Given the description of an element on the screen output the (x, y) to click on. 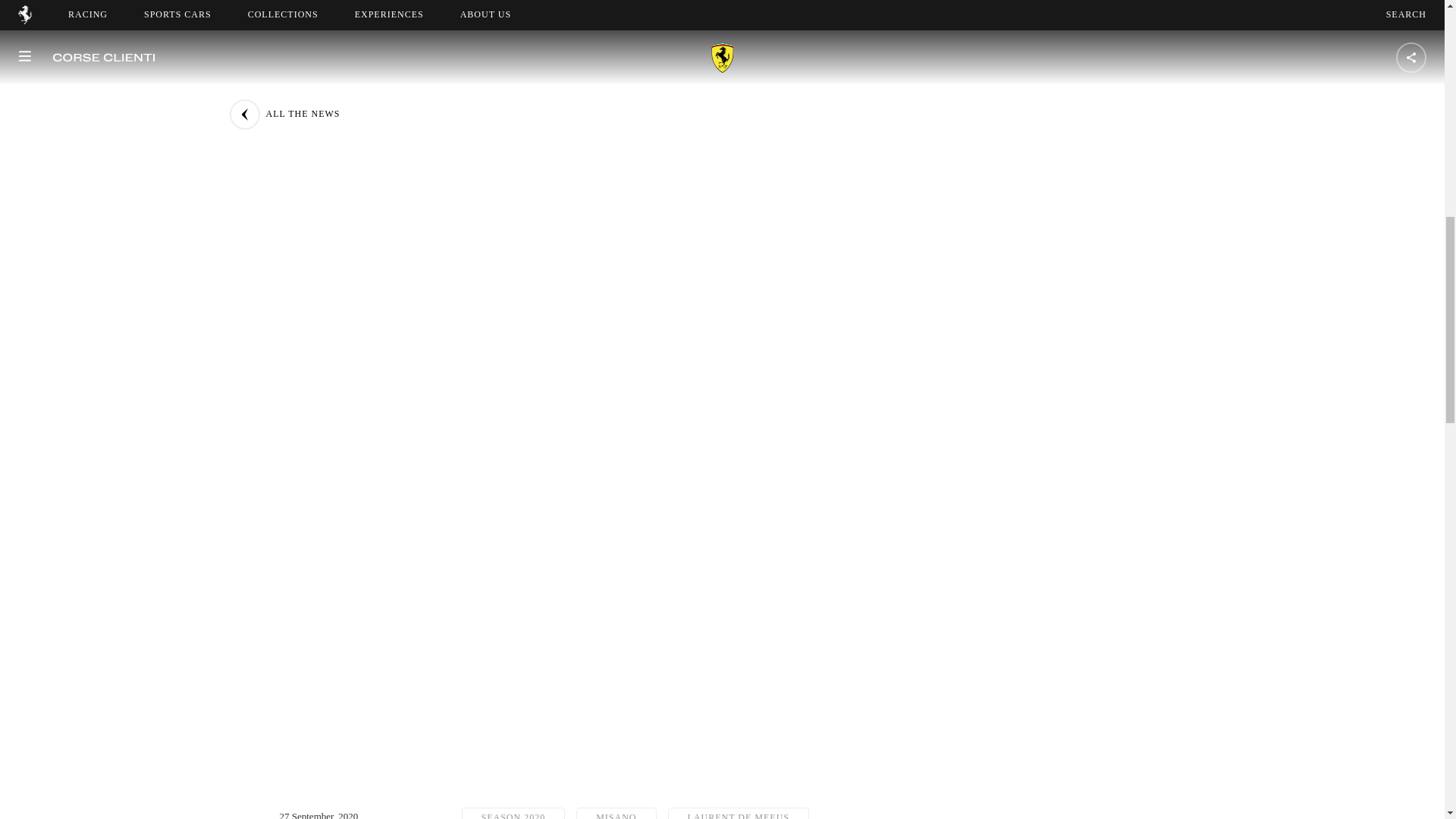
MISANO (616, 813)
SEASON 2020 (512, 813)
LAURENT DE MEEUS (738, 813)
